Given the description of an element on the screen output the (x, y) to click on. 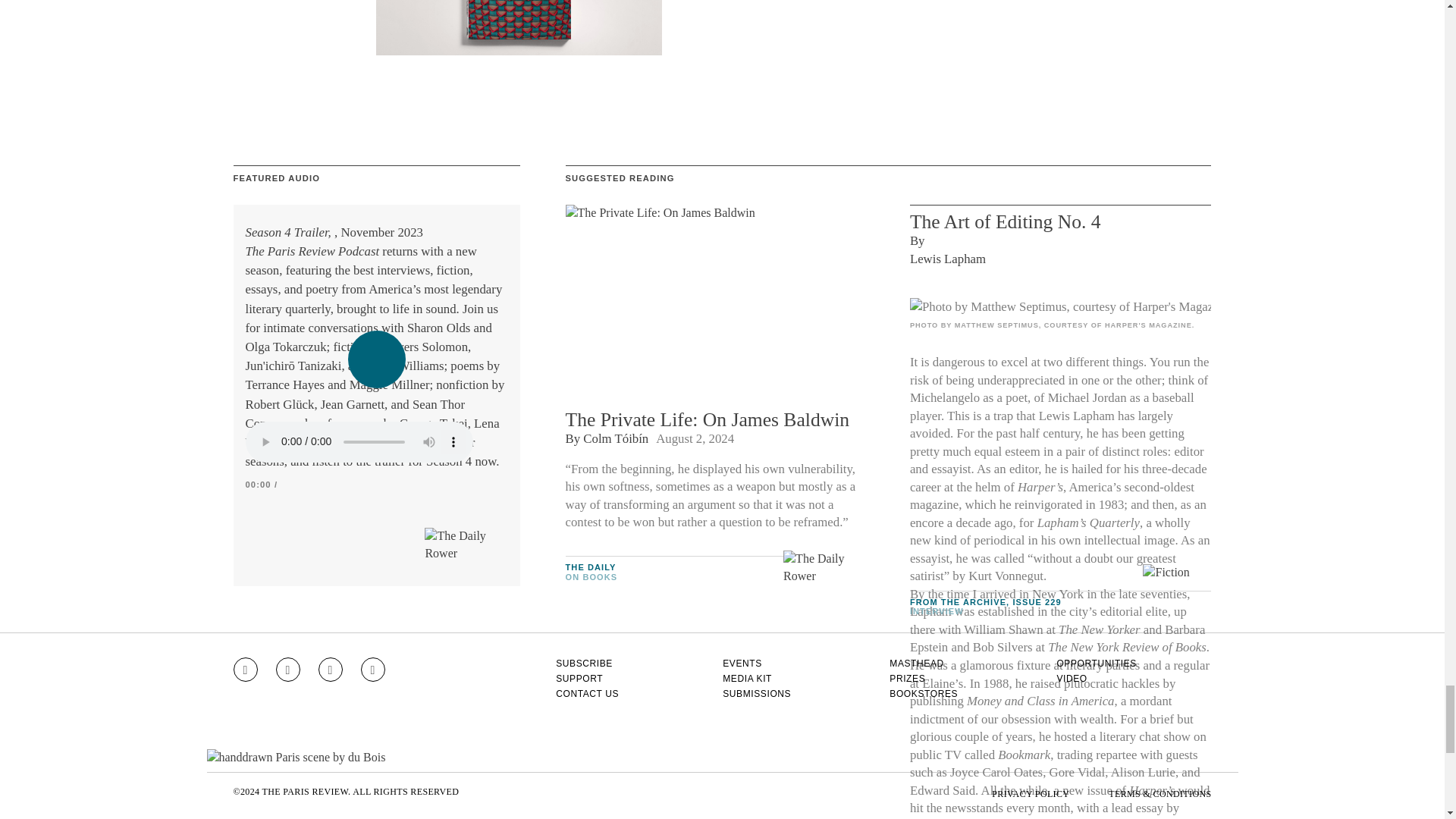
Go to Twitter feed (330, 669)
Go to Facebook page (287, 669)
Go to Instagram feed (244, 669)
undefined (1060, 307)
Go to RSS feed (373, 669)
